Given the description of an element on the screen output the (x, y) to click on. 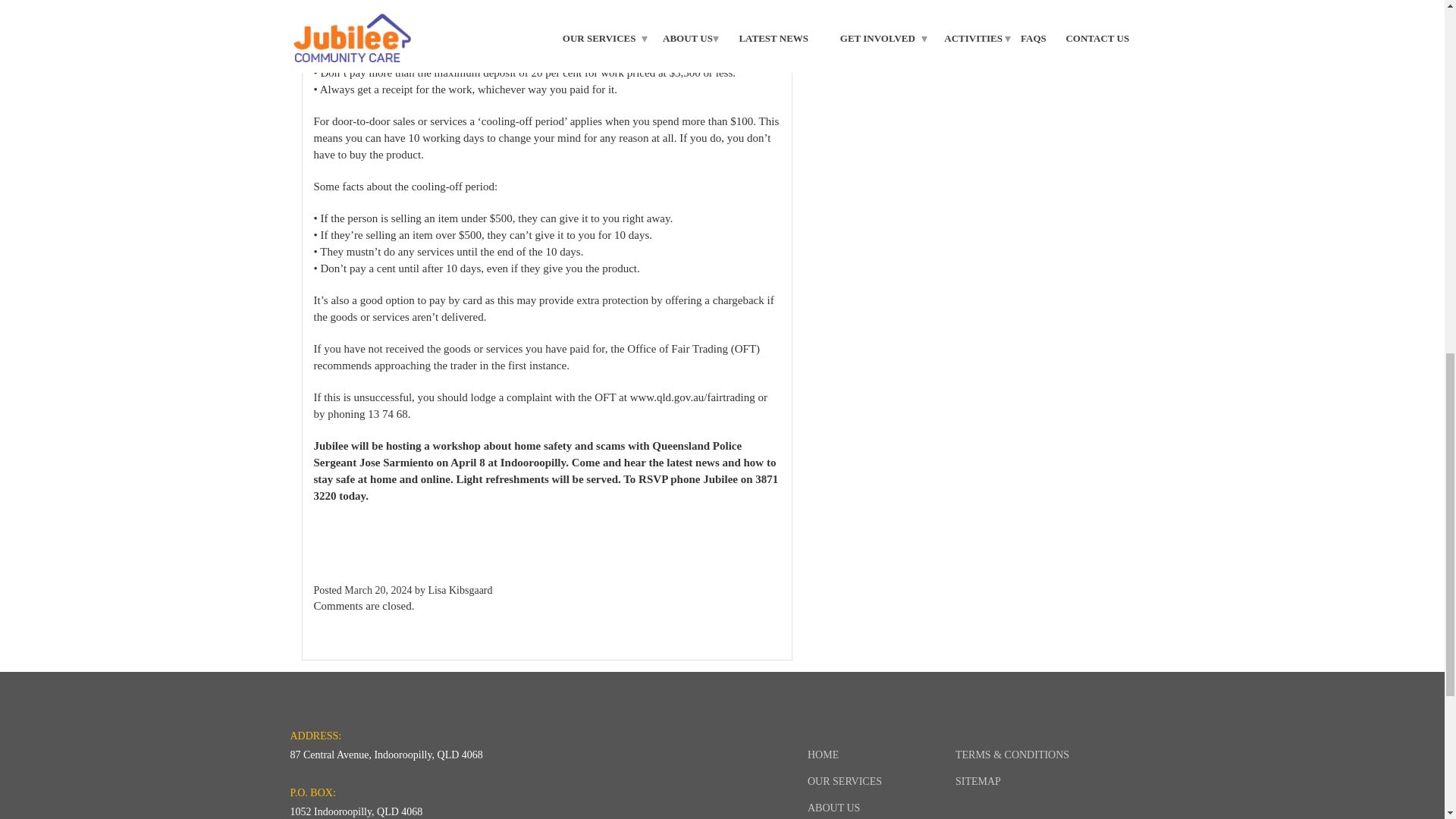
March 20, 2024 (377, 589)
12:04 pm (377, 589)
